Given the description of an element on the screen output the (x, y) to click on. 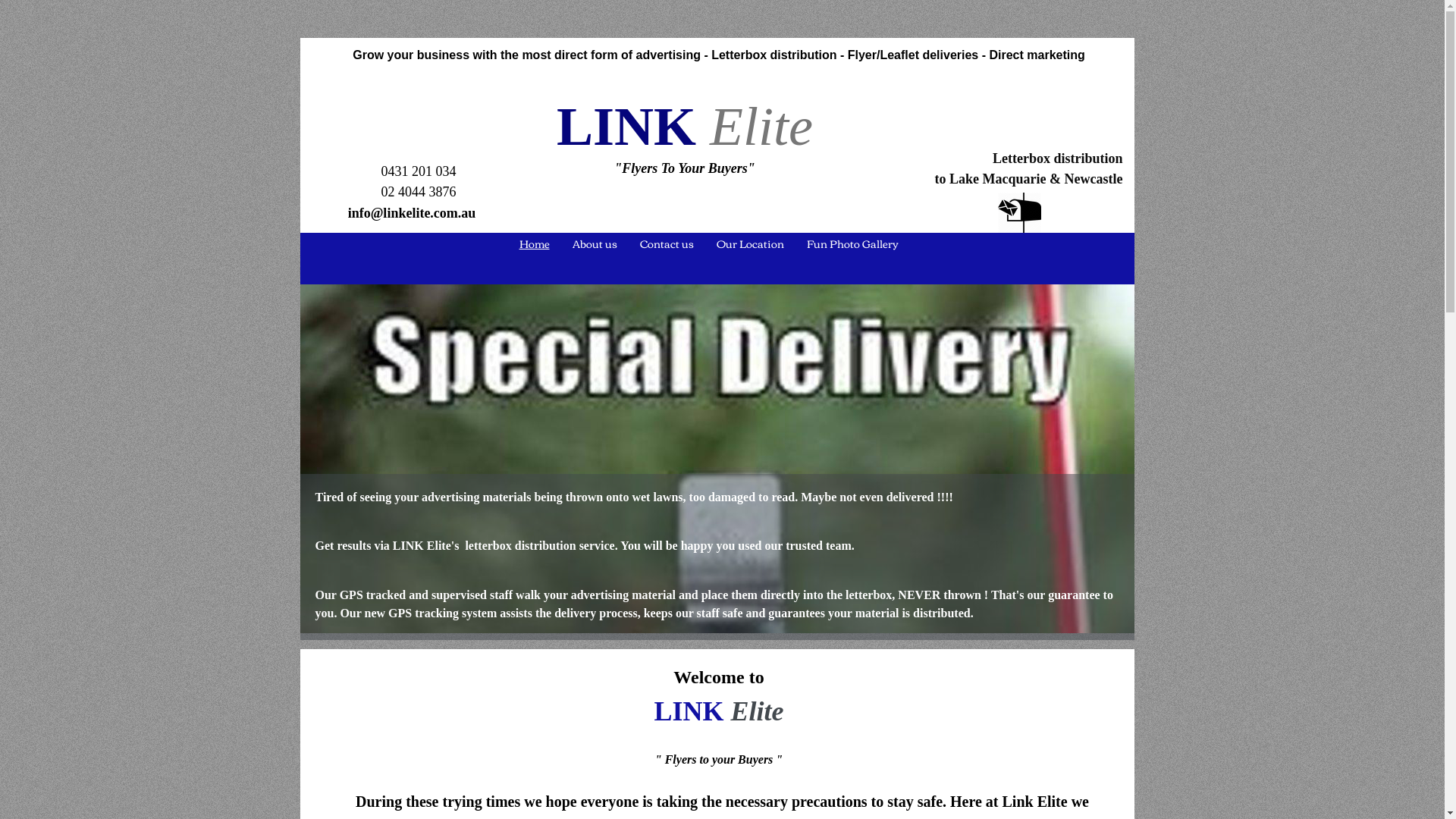
Contact us Element type: text (665, 243)
About us Element type: text (594, 243)
Fun Photo Gallery Element type: text (851, 243)
Our Location Element type: text (750, 243)
Home Element type: text (534, 243)
info@linkelite.com.au Element type: text (412, 212)
